Given the description of an element on the screen output the (x, y) to click on. 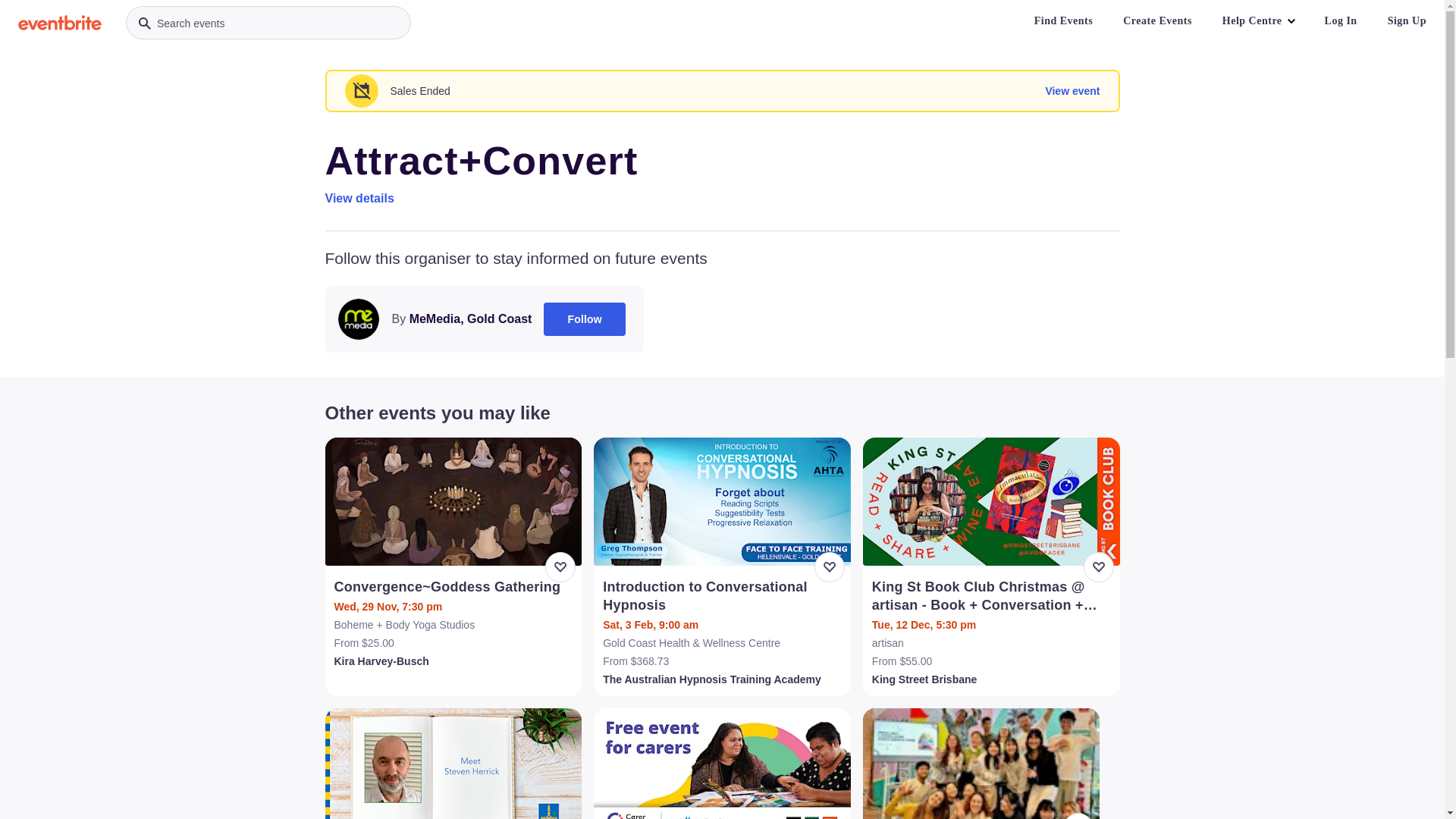
Eventbrite Element type: hover (59, 22)
View event Element type: text (1071, 90)
Sign Up Element type: text (1406, 21)
View details Element type: text (358, 198)
Convergence~Goddess Gathering Element type: text (454, 586)
Log In Element type: text (1340, 21)
Search events Element type: text (268, 22)
Introduction to Conversational Hypnosis Element type: text (723, 595)
Find Events Element type: text (1063, 21)
Create Events Element type: text (1157, 21)
Follow Element type: text (584, 318)
